Given the description of an element on the screen output the (x, y) to click on. 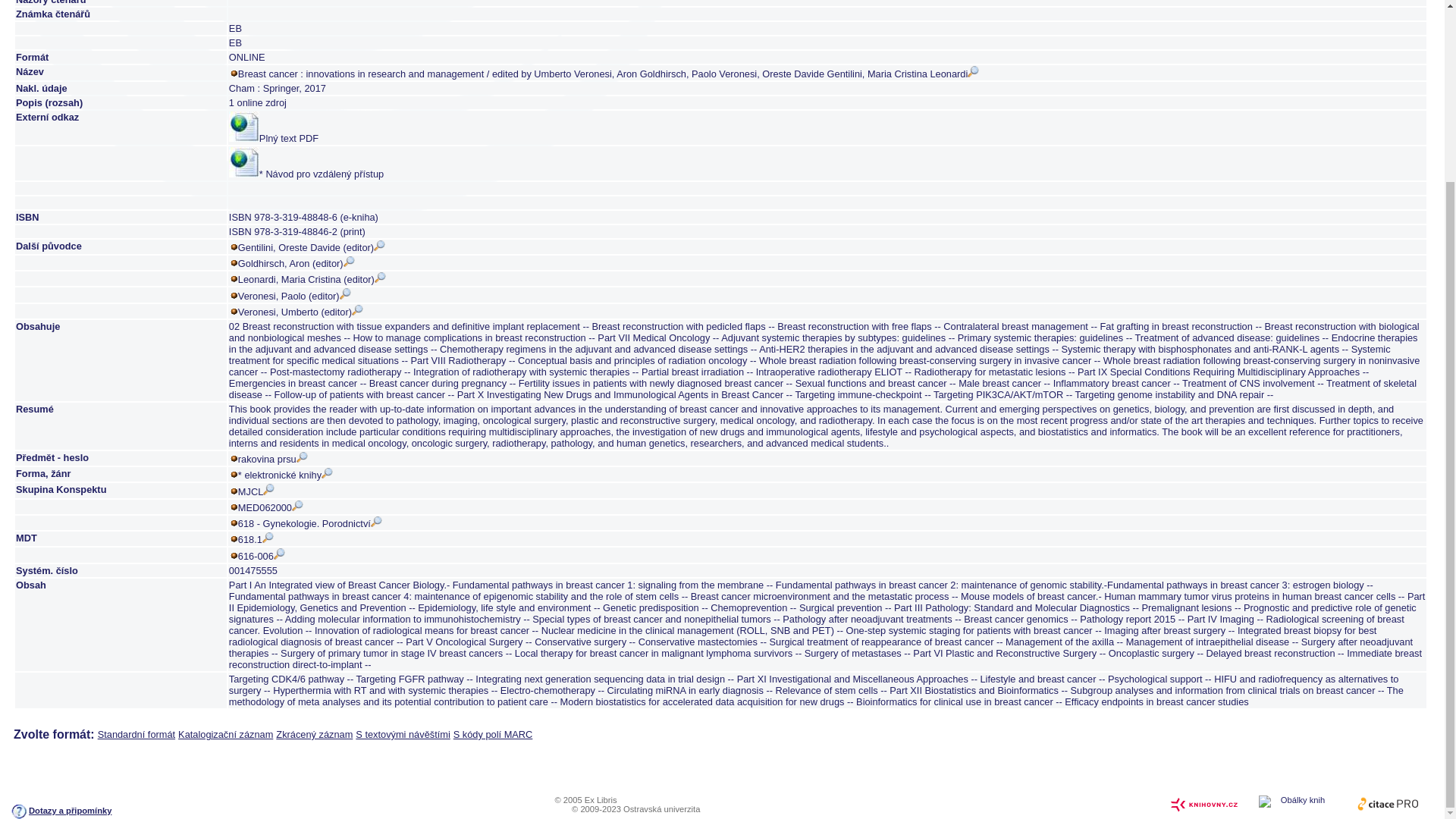
616-006 (261, 555)
MED062000 (270, 507)
618.1 (255, 539)
MJCL (256, 491)
rakovina prsu (272, 459)
